Given the description of an element on the screen output the (x, y) to click on. 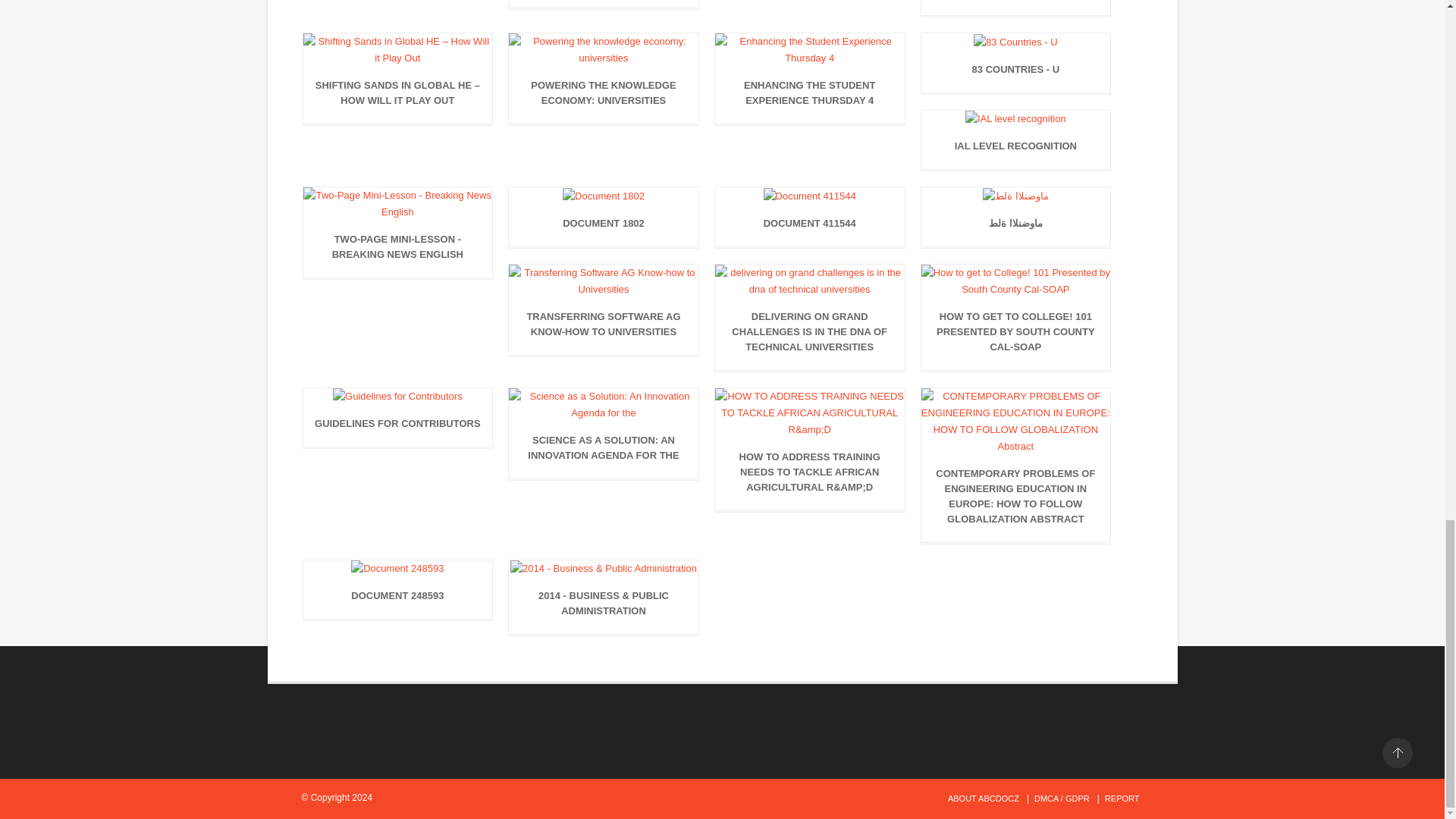
Two-Page Mini-Lesson - Breaking News English (397, 250)
Guidelines for Contributors (397, 427)
TWO-PAGE MINI-LESSON - BREAKING NEWS ENGLISH (397, 250)
Document 411544 (809, 227)
DOCUMENT 1802 (603, 227)
TRANSFERRING SOFTWARE AG KNOW-HOW TO UNIVERSITIES (603, 328)
ENHANCING THE STUDENT EXPERIENCE THURSDAY 4 (809, 96)
IAL LEVEL RECOGNITION (1015, 149)
